Given the description of an element on the screen output the (x, y) to click on. 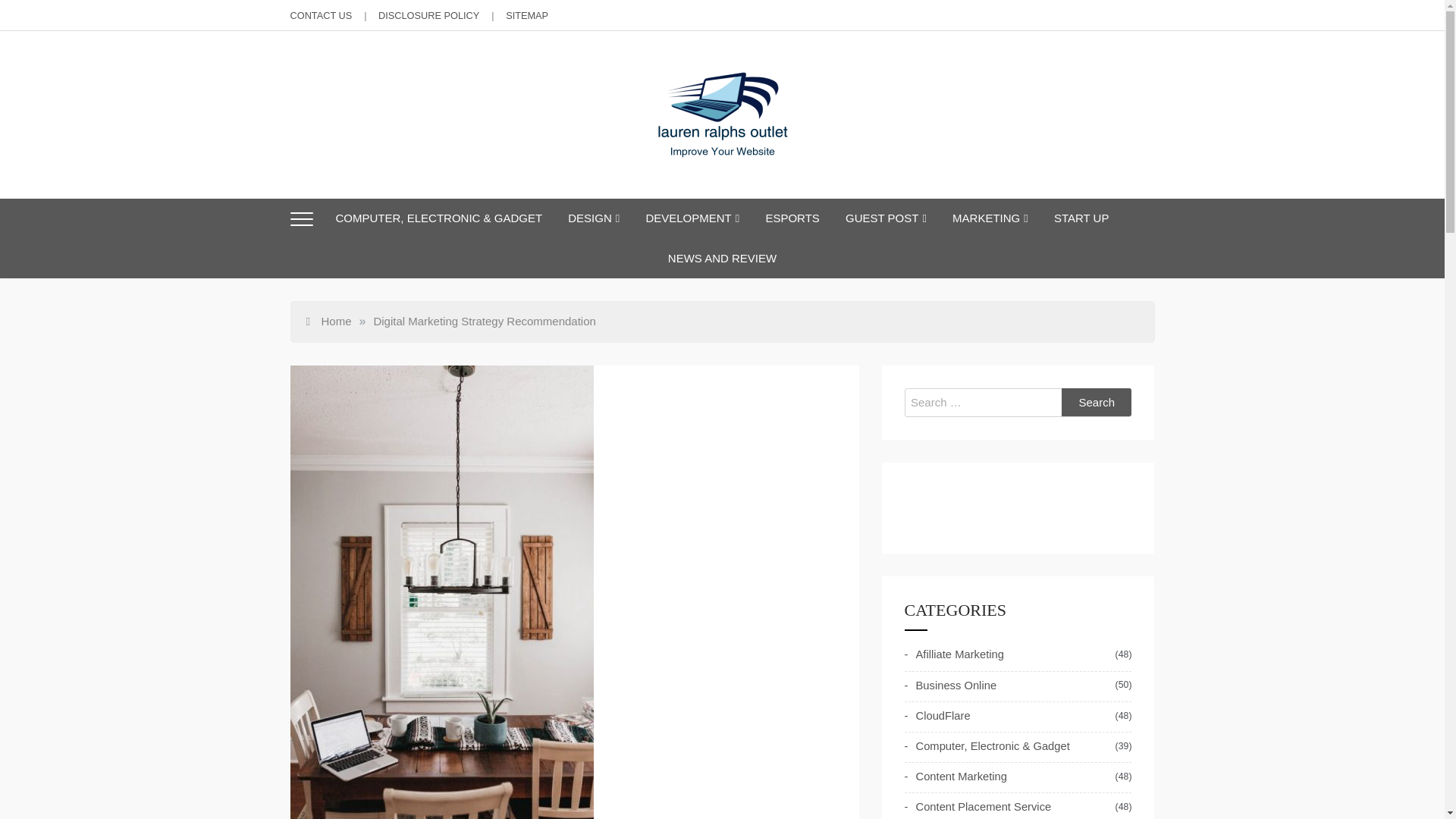
Search (1096, 402)
Search (1096, 402)
